Given the description of an element on the screen output the (x, y) to click on. 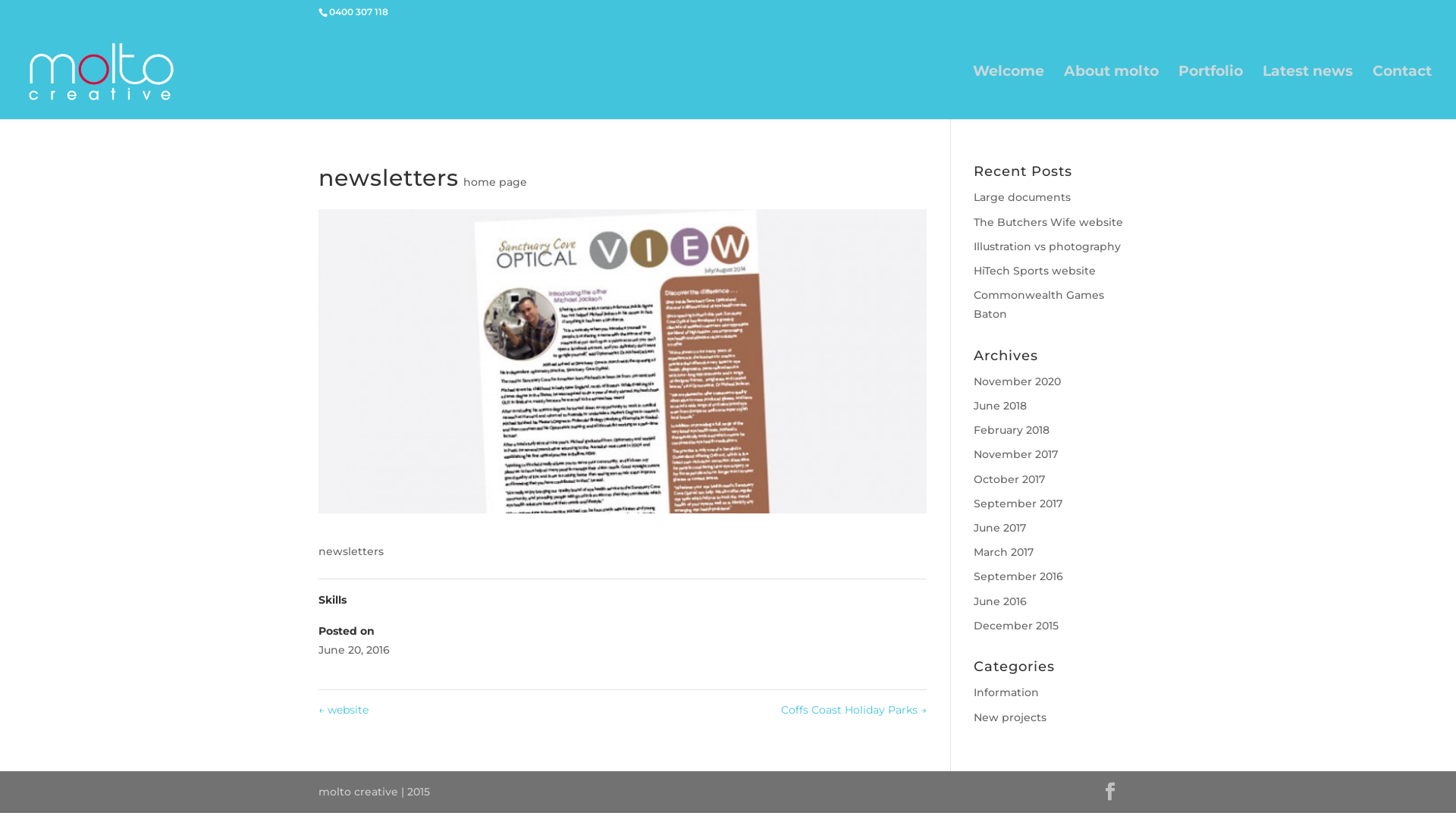
Large documents Element type: text (1021, 196)
September 2017 Element type: text (1017, 503)
June 2018 Element type: text (999, 405)
HiTech Sports website Element type: text (1034, 270)
Commonwealth Games Baton Element type: text (1038, 304)
Illustration vs photography Element type: text (1046, 246)
June 2016 Element type: text (999, 601)
Portfolio Element type: text (1210, 92)
December 2015 Element type: text (1015, 625)
February 2018 Element type: text (1011, 429)
Latest news Element type: text (1307, 92)
Contact Element type: text (1401, 92)
March 2017 Element type: text (1003, 551)
November 2020 Element type: text (1016, 381)
Information Element type: text (1005, 692)
June 2017 Element type: text (999, 527)
About molto Element type: text (1110, 92)
October 2017 Element type: text (1008, 479)
November 2017 Element type: text (1015, 454)
Welcome Element type: text (1008, 92)
home page Element type: text (495, 181)
New projects Element type: text (1009, 717)
The Butchers Wife website Element type: text (1048, 222)
September 2016 Element type: text (1018, 576)
